Given the description of an element on the screen output the (x, y) to click on. 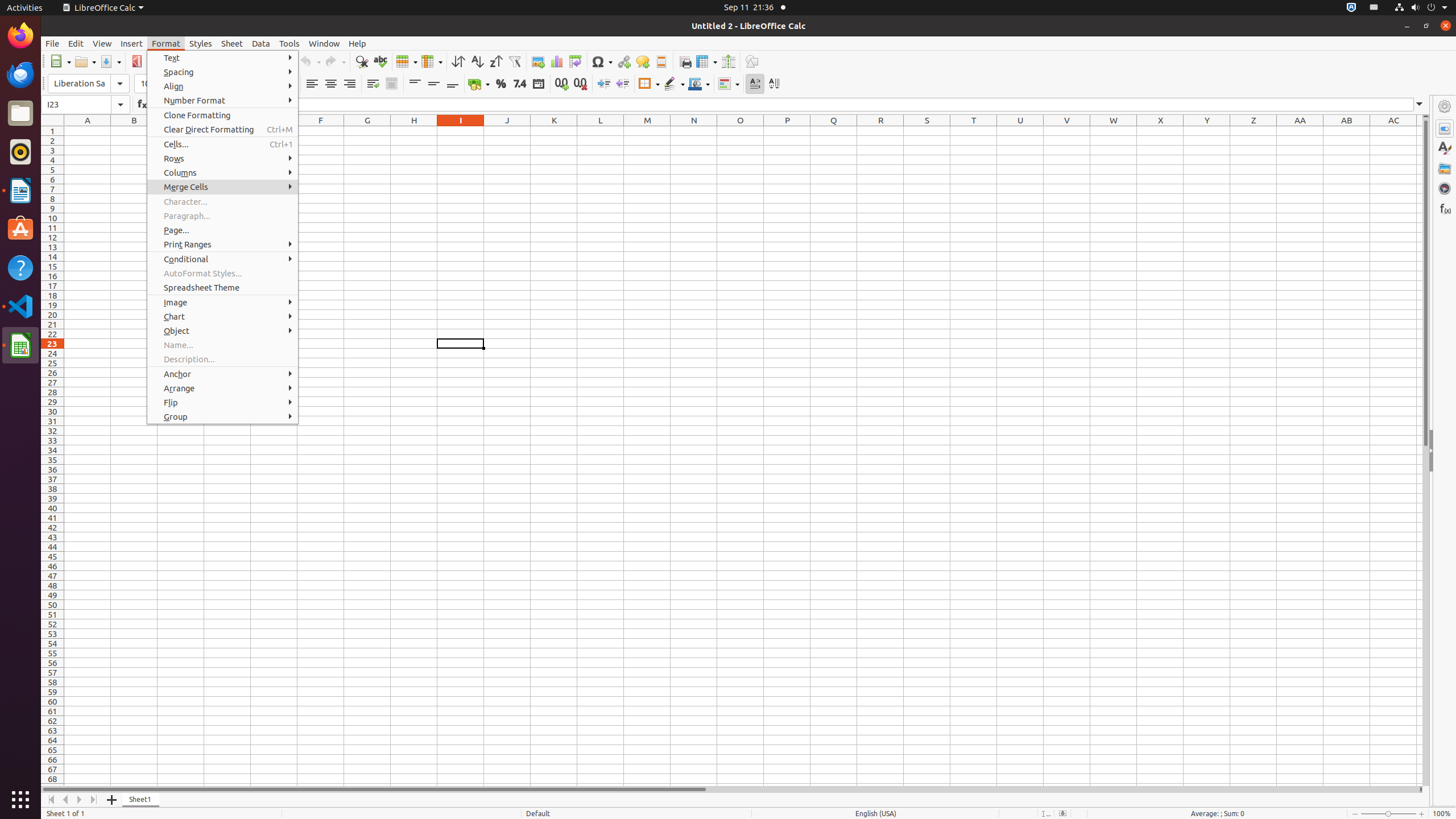
Decrease Element type: push-button (622, 83)
Image Element type: menu (222, 302)
Draw Functions Element type: toggle-button (751, 61)
Text direction from top to bottom Element type: toggle-button (773, 83)
Gallery Element type: radio-button (1444, 168)
